Given the description of an element on the screen output the (x, y) to click on. 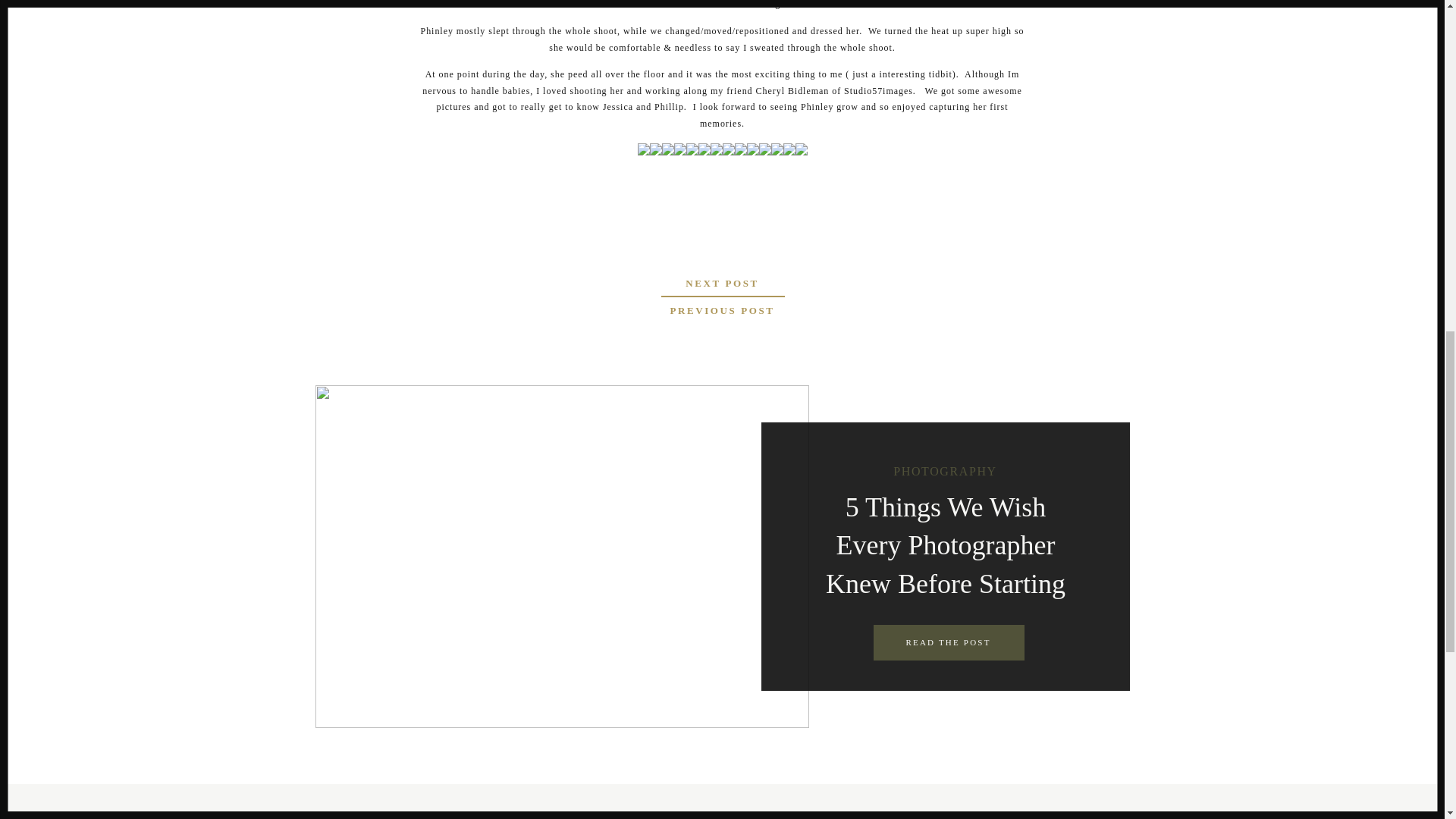
NEXT POST (722, 282)
PREVIOUS POST (722, 310)
READ THE POST (947, 642)
